Given the description of an element on the screen output the (x, y) to click on. 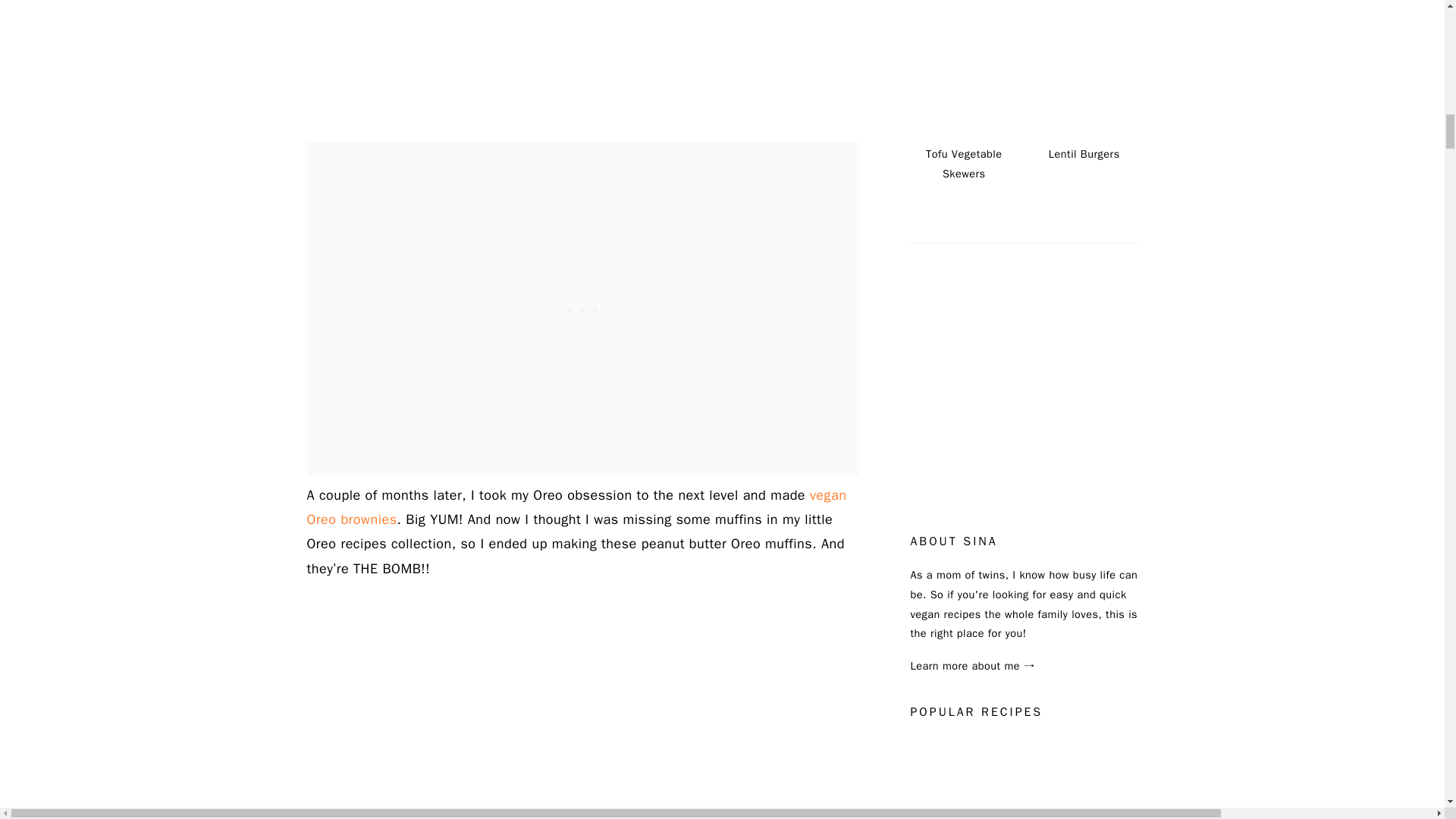
vegan Oreo brownies (575, 506)
